Given the description of an element on the screen output the (x, y) to click on. 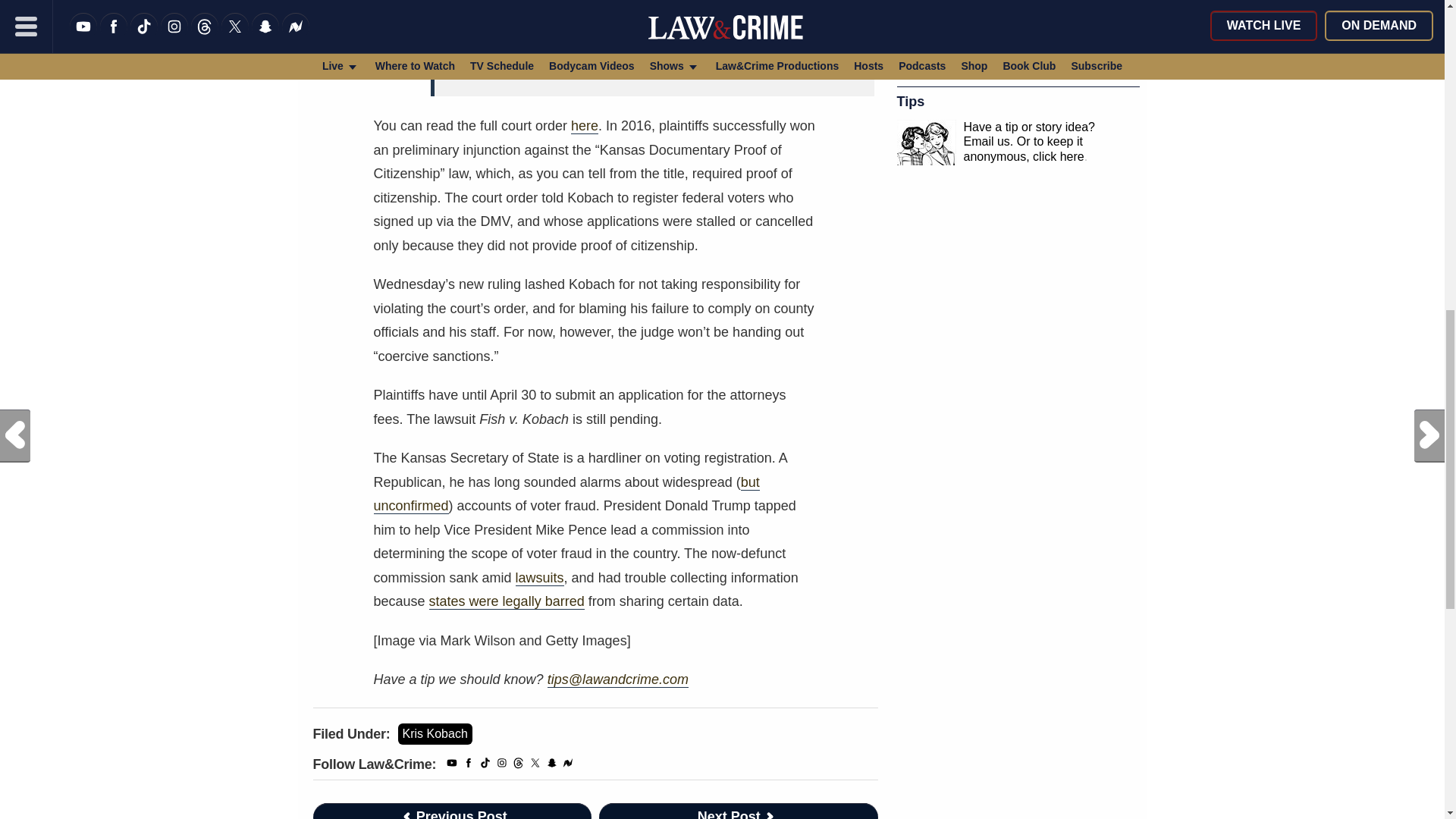
YouTube (451, 765)
